Given the description of an element on the screen output the (x, y) to click on. 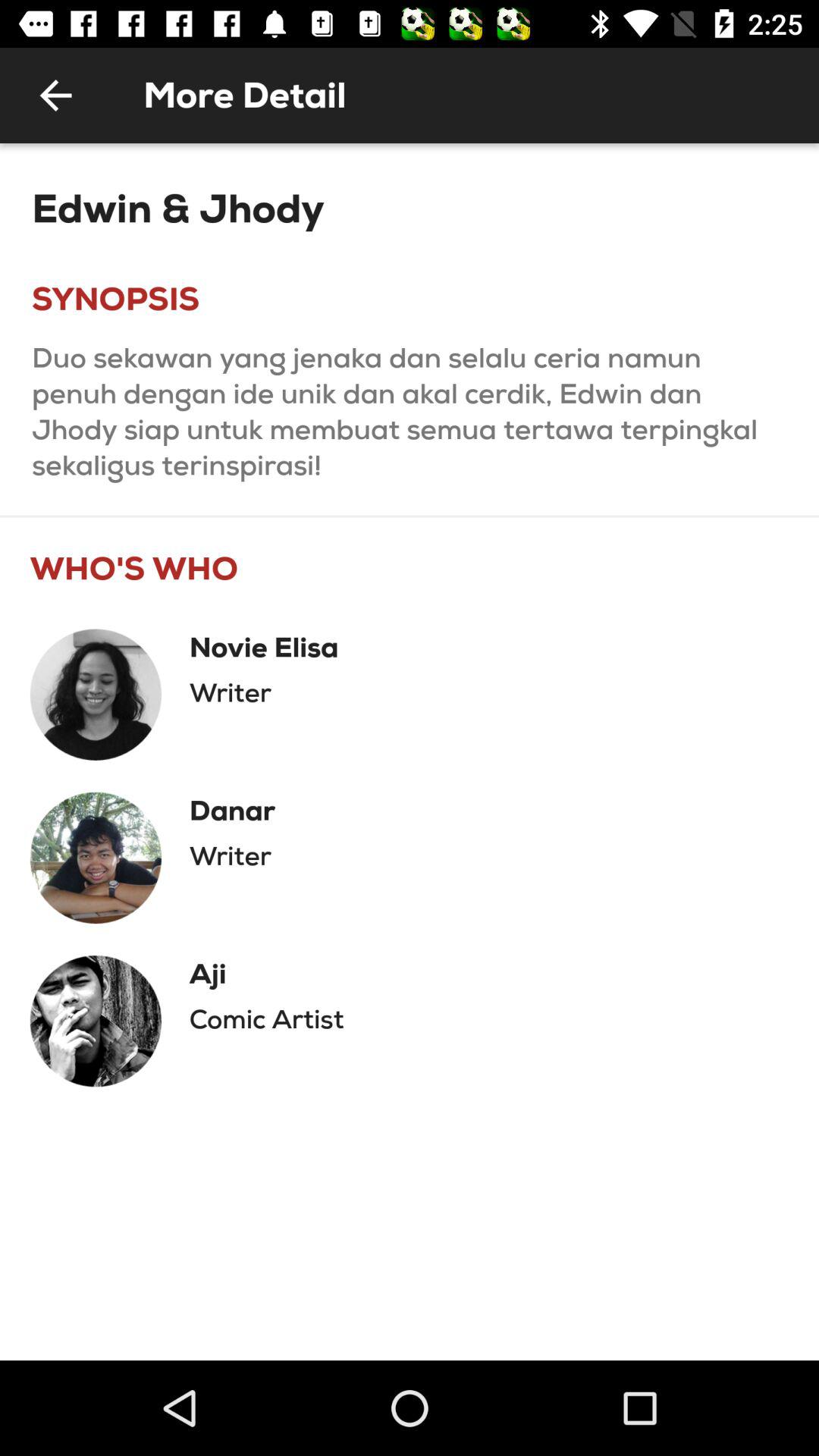
open the item next to the more detail (55, 95)
